Given the description of an element on the screen output the (x, y) to click on. 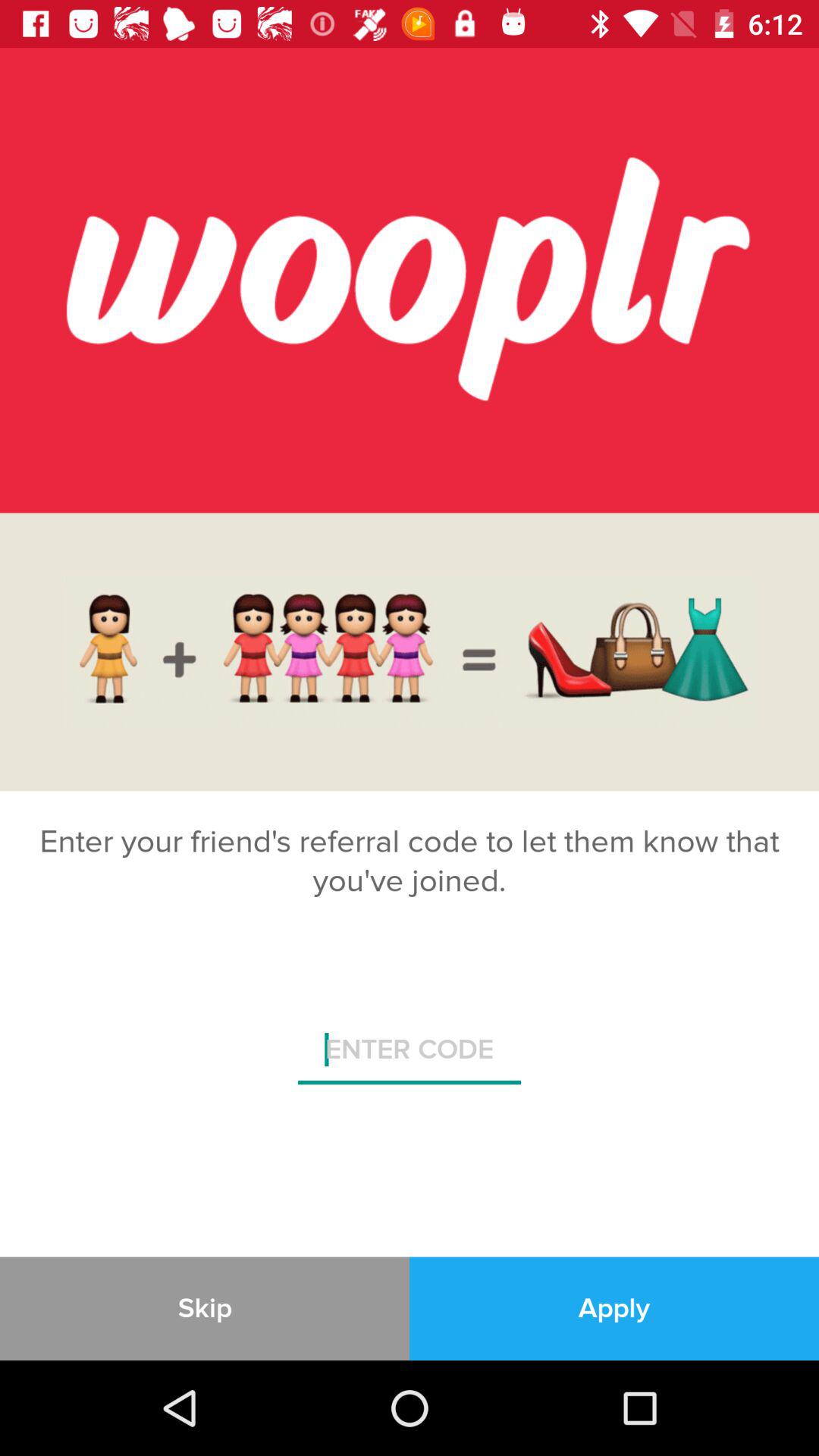
tap the item next to skip icon (614, 1308)
